Given the description of an element on the screen output the (x, y) to click on. 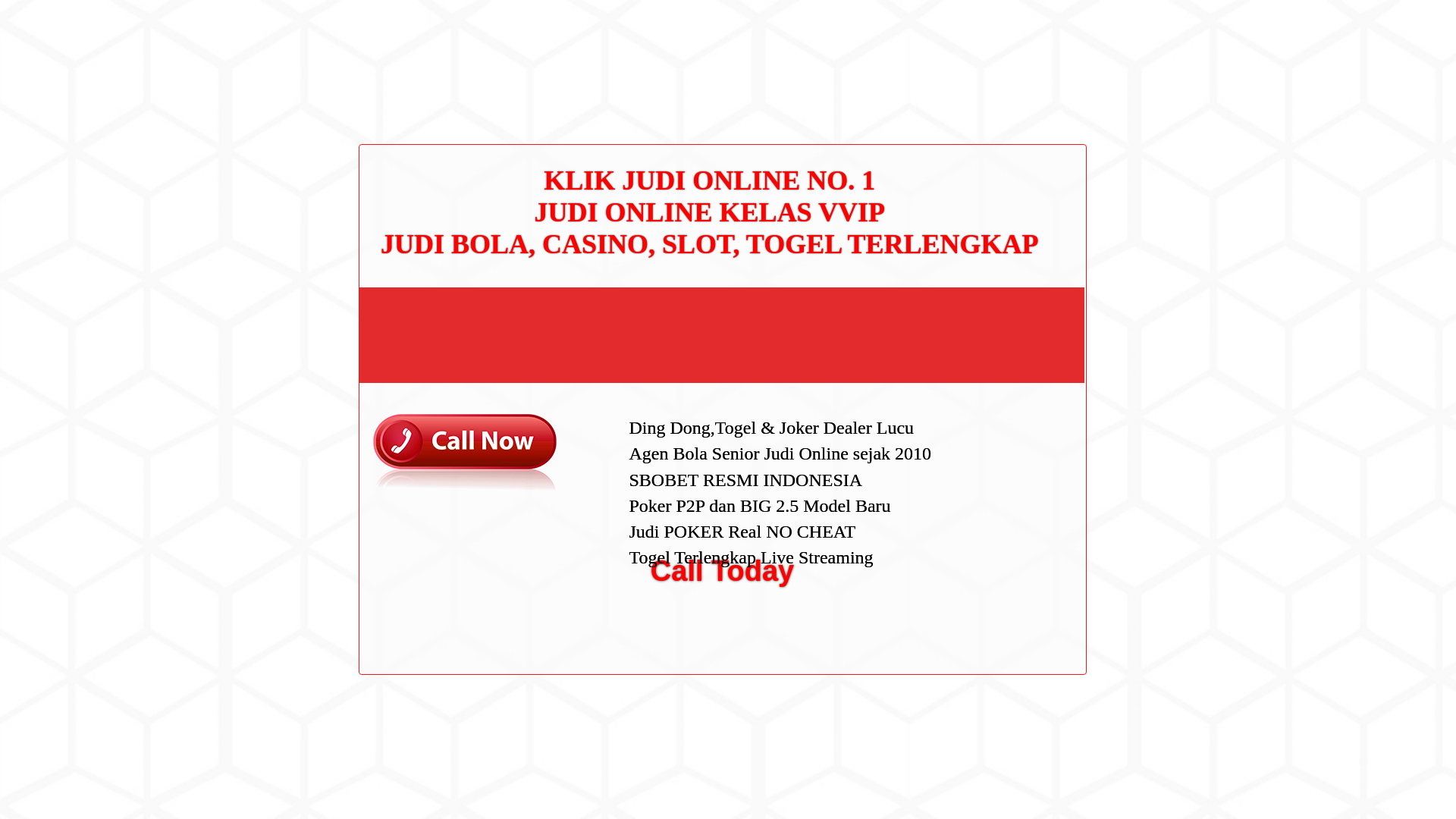
Privacy Policy (999, 306)
Log in (980, 588)
ADMINISTRATOR (417, 81)
Latest Article (996, 172)
DMCA Policy (996, 282)
Search (1050, 85)
Contact Us (991, 258)
KANONSPORTS.COM (403, 28)
July 2020 (988, 432)
Search (1050, 85)
RSS (977, 612)
Terms of Use (996, 330)
Disclaimer (990, 354)
Skip to content (34, 9)
Search (1050, 85)
